Given the description of an element on the screen output the (x, y) to click on. 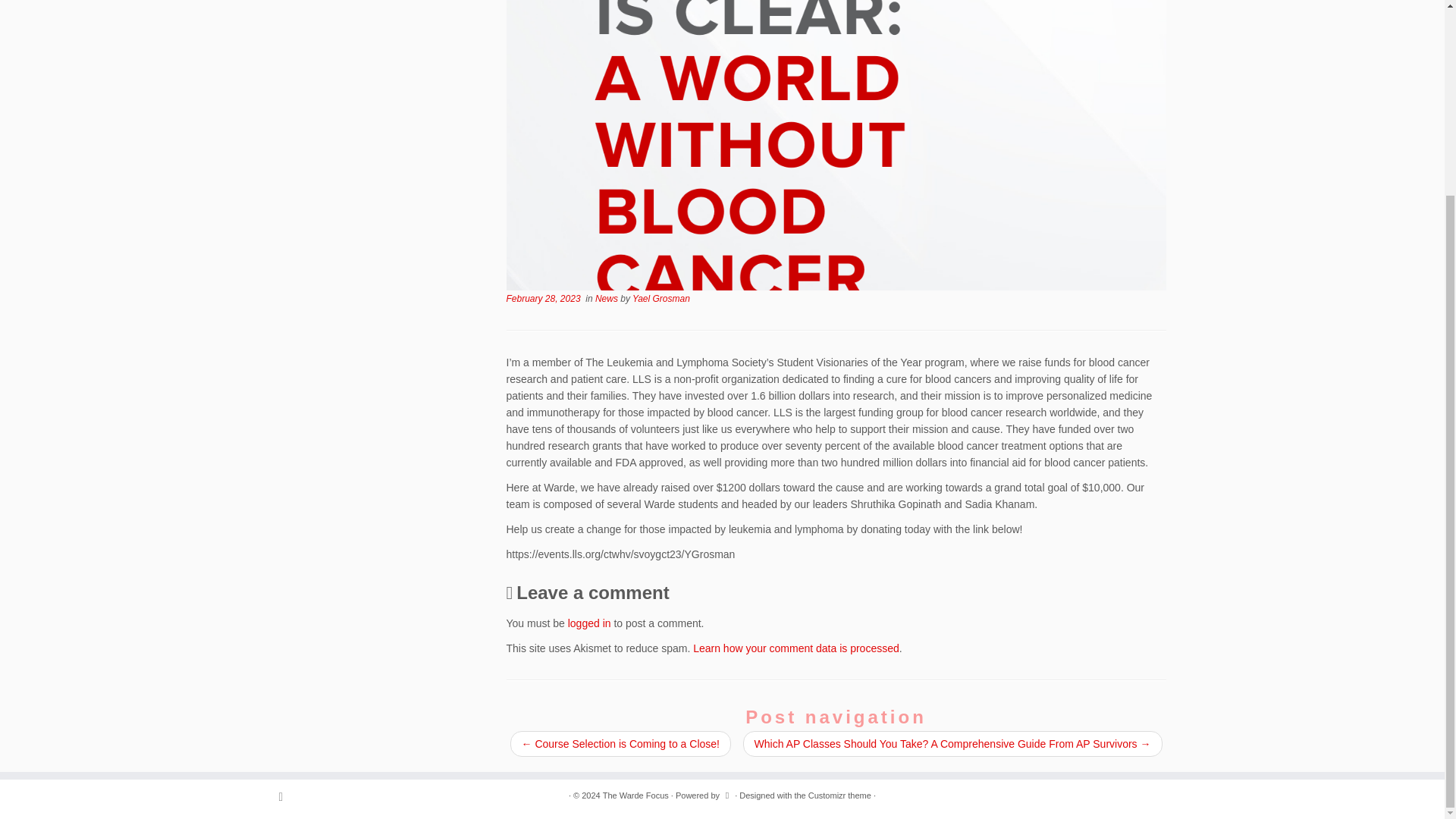
Subscribe to my rss feed (286, 796)
The Warde Focus (635, 795)
1:03 am (543, 298)
Yael Grosman (660, 298)
View all posts in News (607, 298)
Customizr theme (839, 795)
The Warde Focus (635, 795)
logged in (589, 623)
Learn how your comment data is processed (796, 648)
View all posts by Yael Grosman (660, 298)
News (607, 298)
February 28, 2023 (543, 298)
Customizr theme (839, 795)
Powered by WordPress (727, 792)
